Given the description of an element on the screen output the (x, y) to click on. 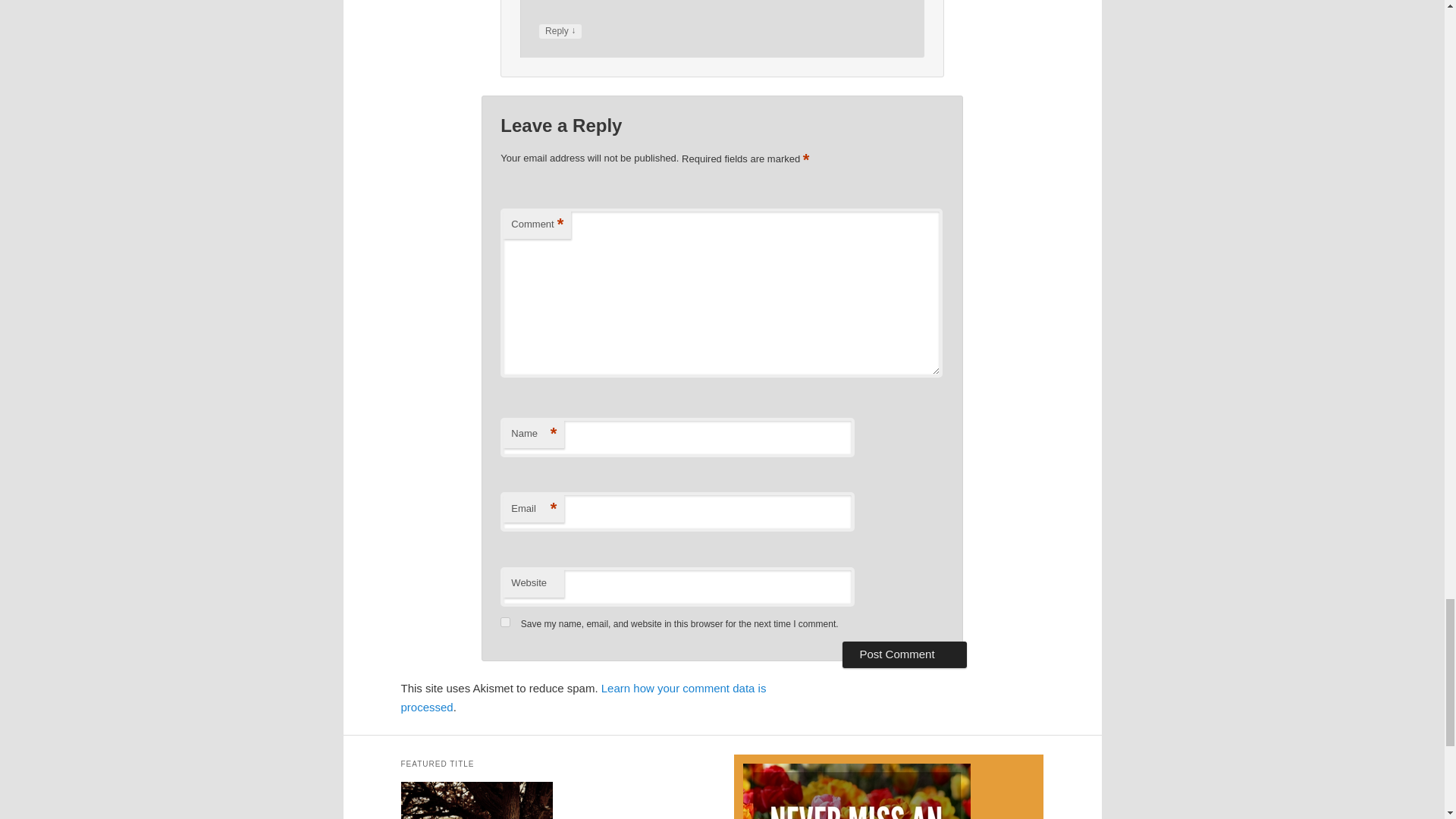
yes (505, 622)
Post Comment (904, 654)
Post Comment (904, 654)
